Given the description of an element on the screen output the (x, y) to click on. 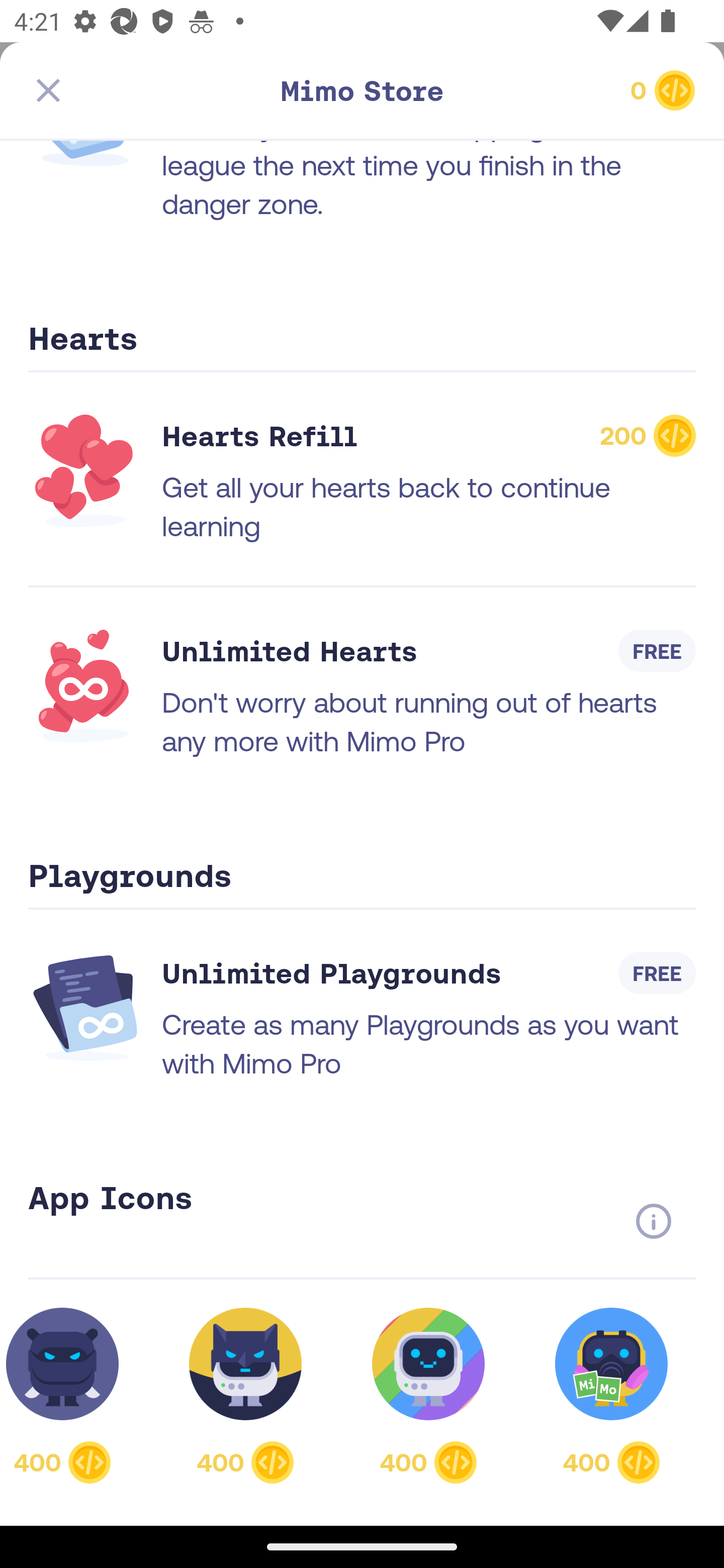
Path Toolbar Image 4 (134, 90)
Path Toolbar Image 0 (361, 90)
Path Toolbar Image 0 (588, 90)
Info (653, 1221)
Store App Icon 400 Store Coins Icon (73, 1395)
Store App Icon 400 Store Coins Icon (245, 1395)
Store App Icon 400 Store Coins Icon (427, 1395)
Store App Icon 400 Store Coins Icon (611, 1395)
